Given the description of an element on the screen output the (x, y) to click on. 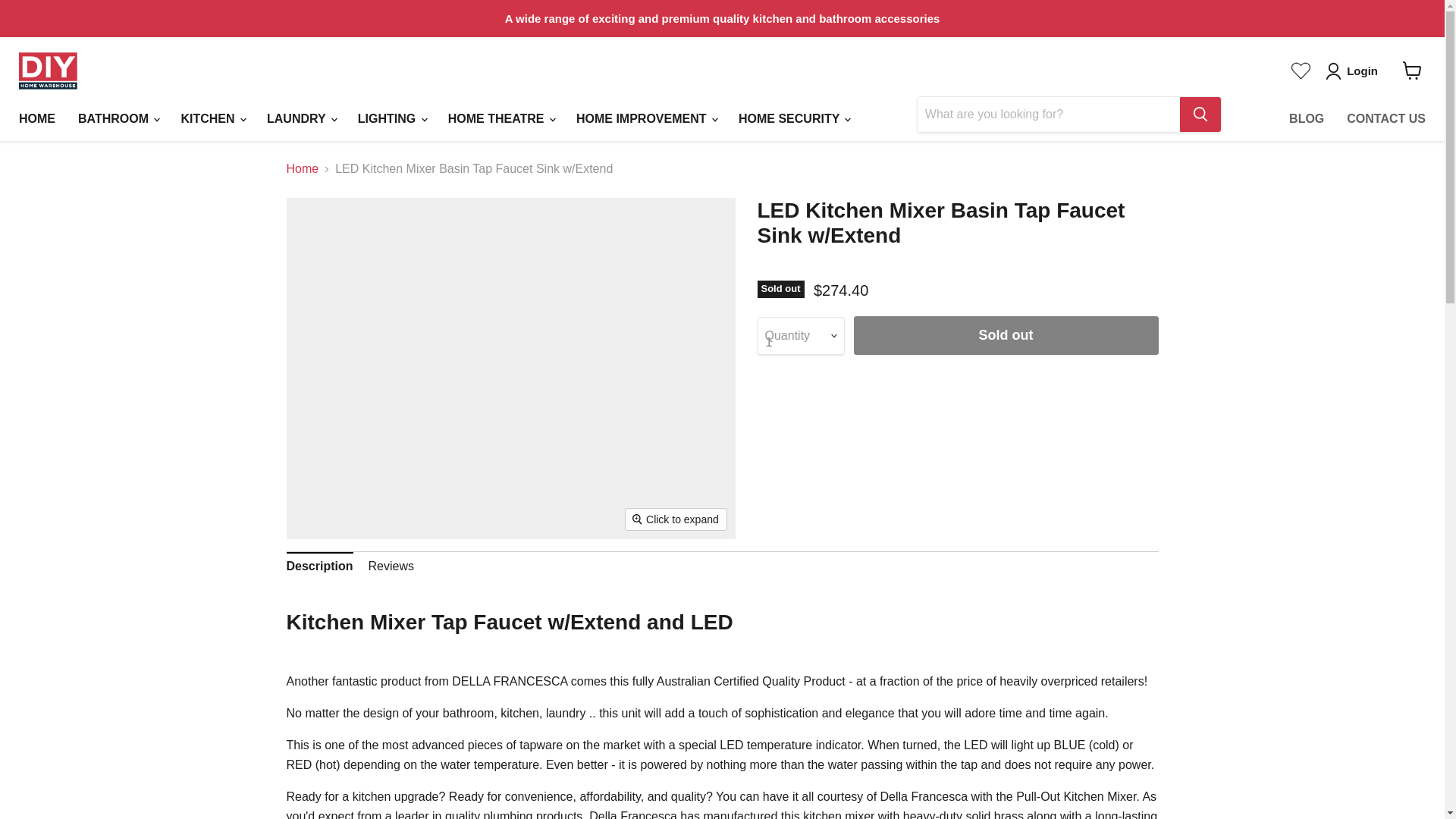
LIGHTING (391, 119)
KITCHEN (212, 119)
HOME (36, 119)
BATHROOM (117, 119)
LAUNDRY (301, 119)
Login (1362, 71)
View cart (1411, 70)
